Given the description of an element on the screen output the (x, y) to click on. 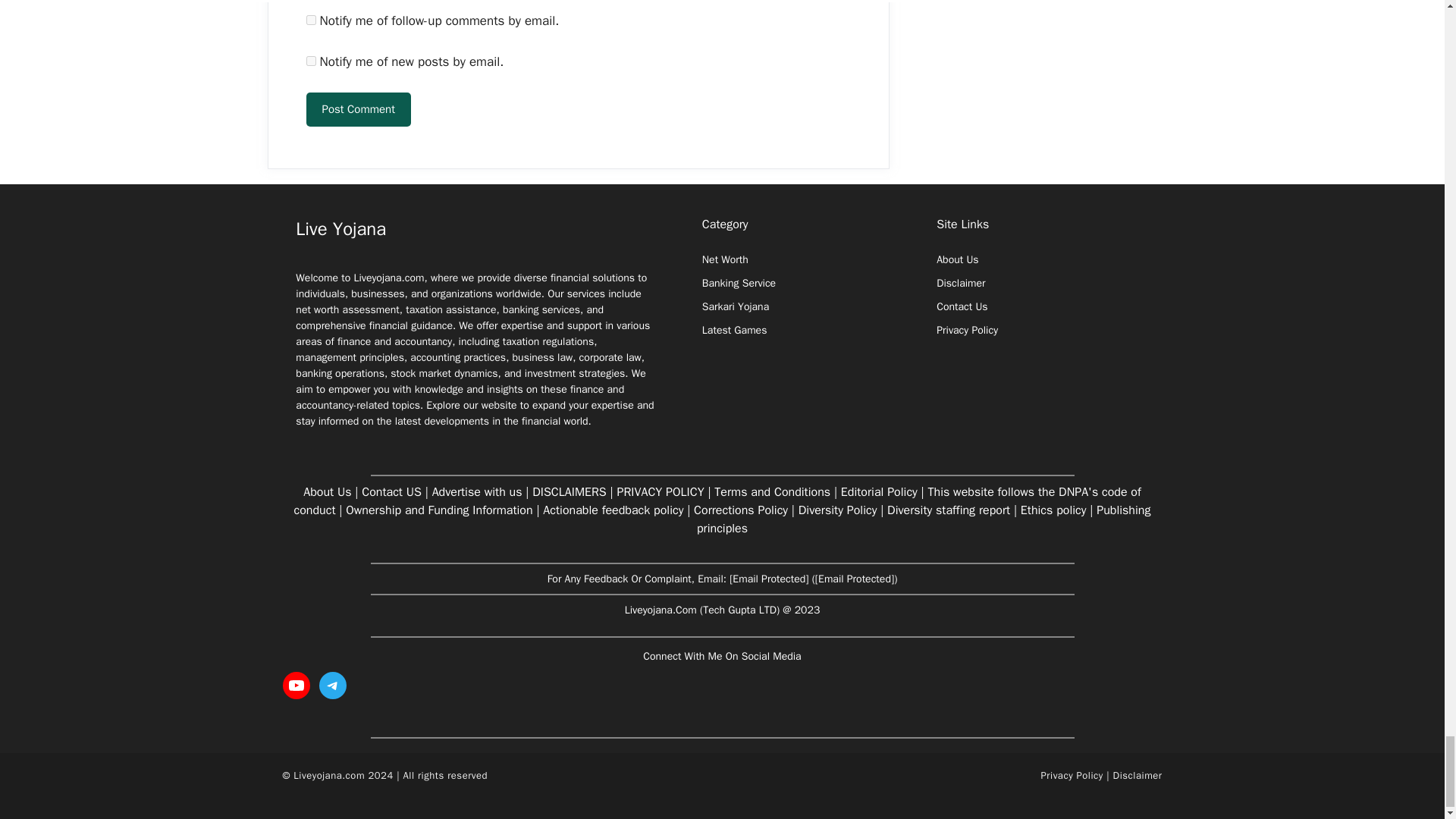
Post Comment (357, 109)
subscribe (310, 61)
subscribe (310, 20)
